Given the description of an element on the screen output the (x, y) to click on. 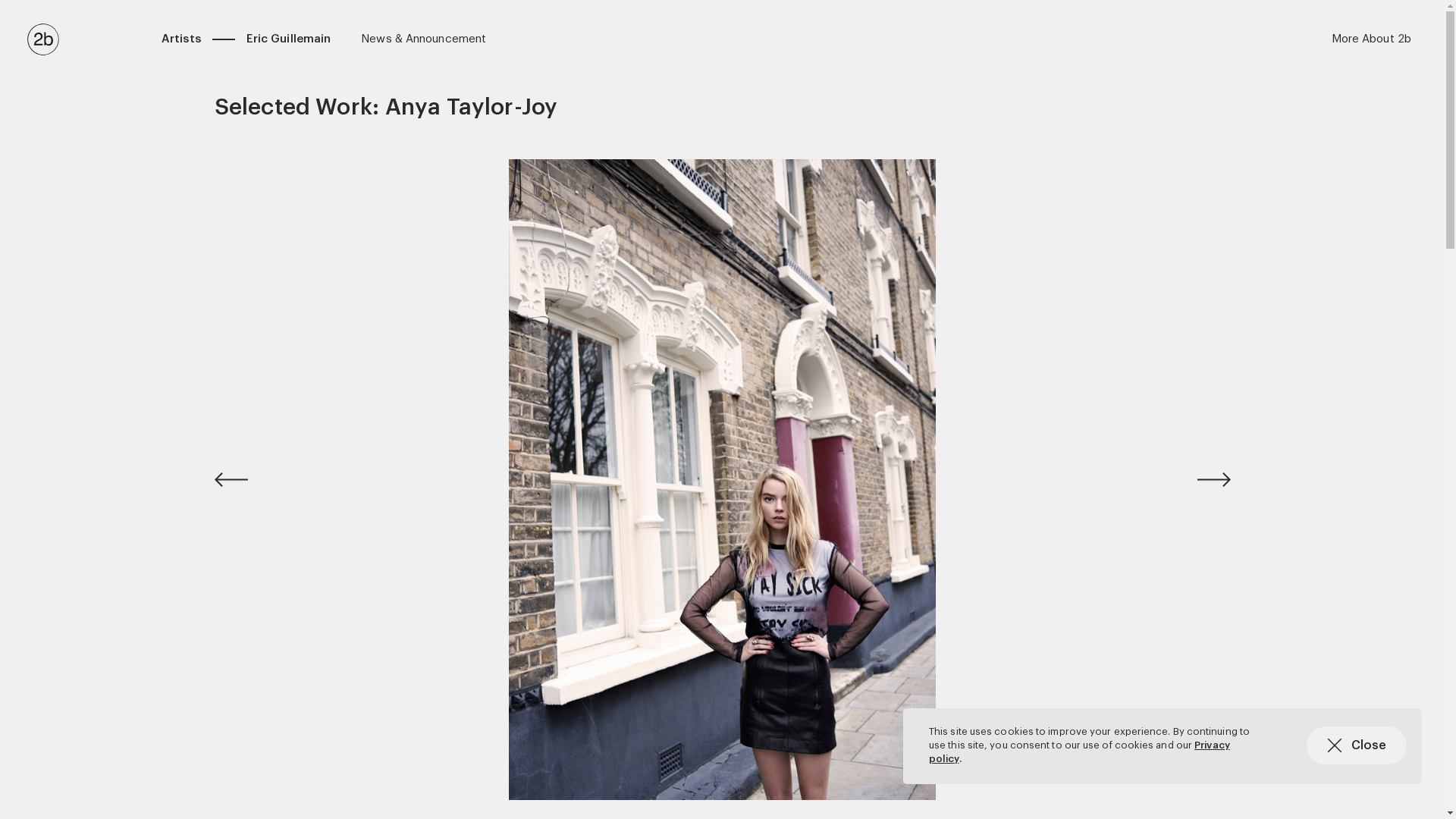
Close Element type: text (1355, 745)
More About 2b Element type: text (1371, 38)
Artists Element type: text (180, 39)
Eric Guillemain Element type: text (288, 39)
Previous Element type: hover (251, 479)
Next Element type: hover (1192, 479)
Privacy policy Element type: text (1079, 751)
News & Announcement Element type: text (423, 39)
